Given the description of an element on the screen output the (x, y) to click on. 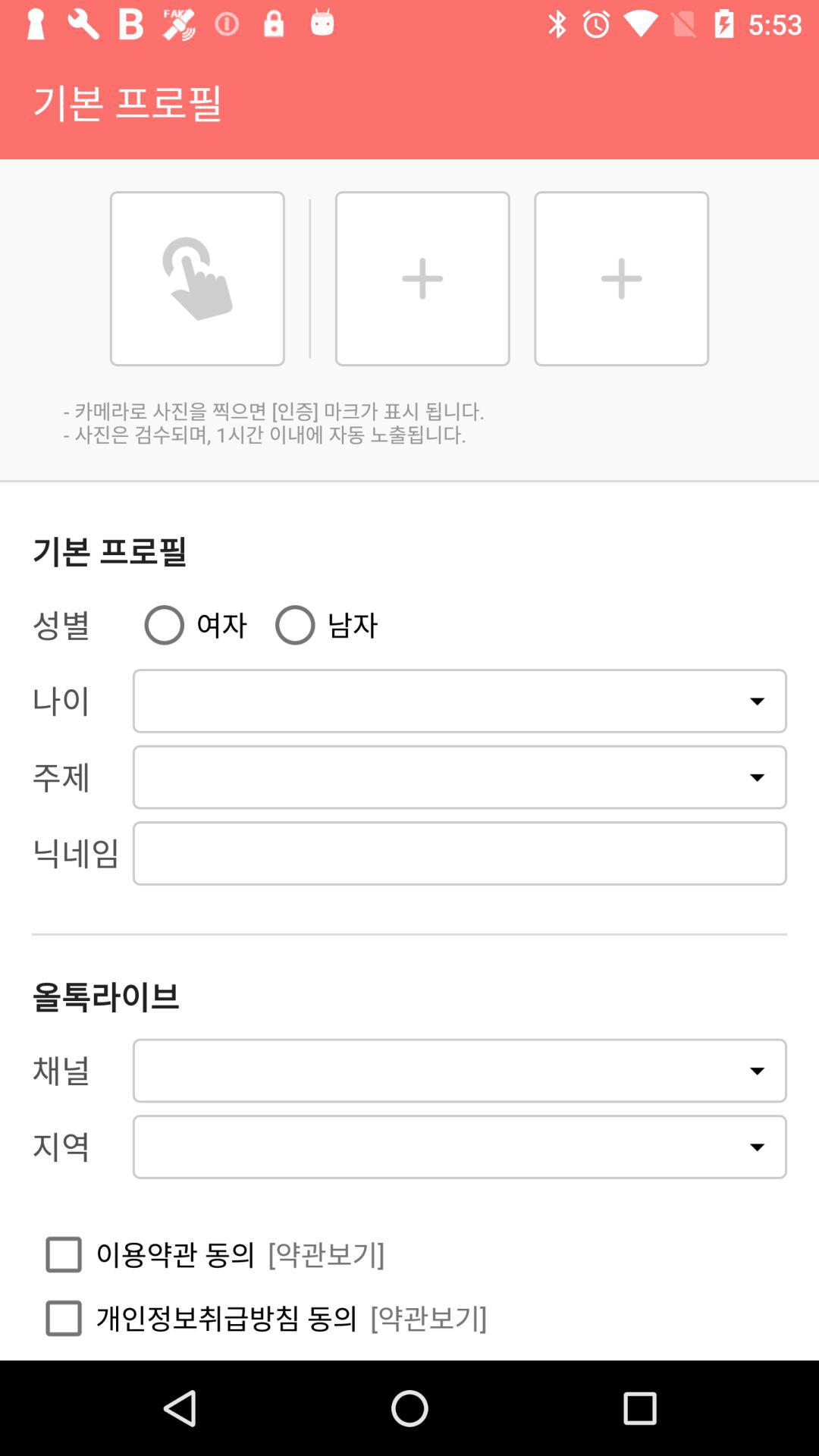
click on second drop down from the top (459, 777)
